Given the description of an element on the screen output the (x, y) to click on. 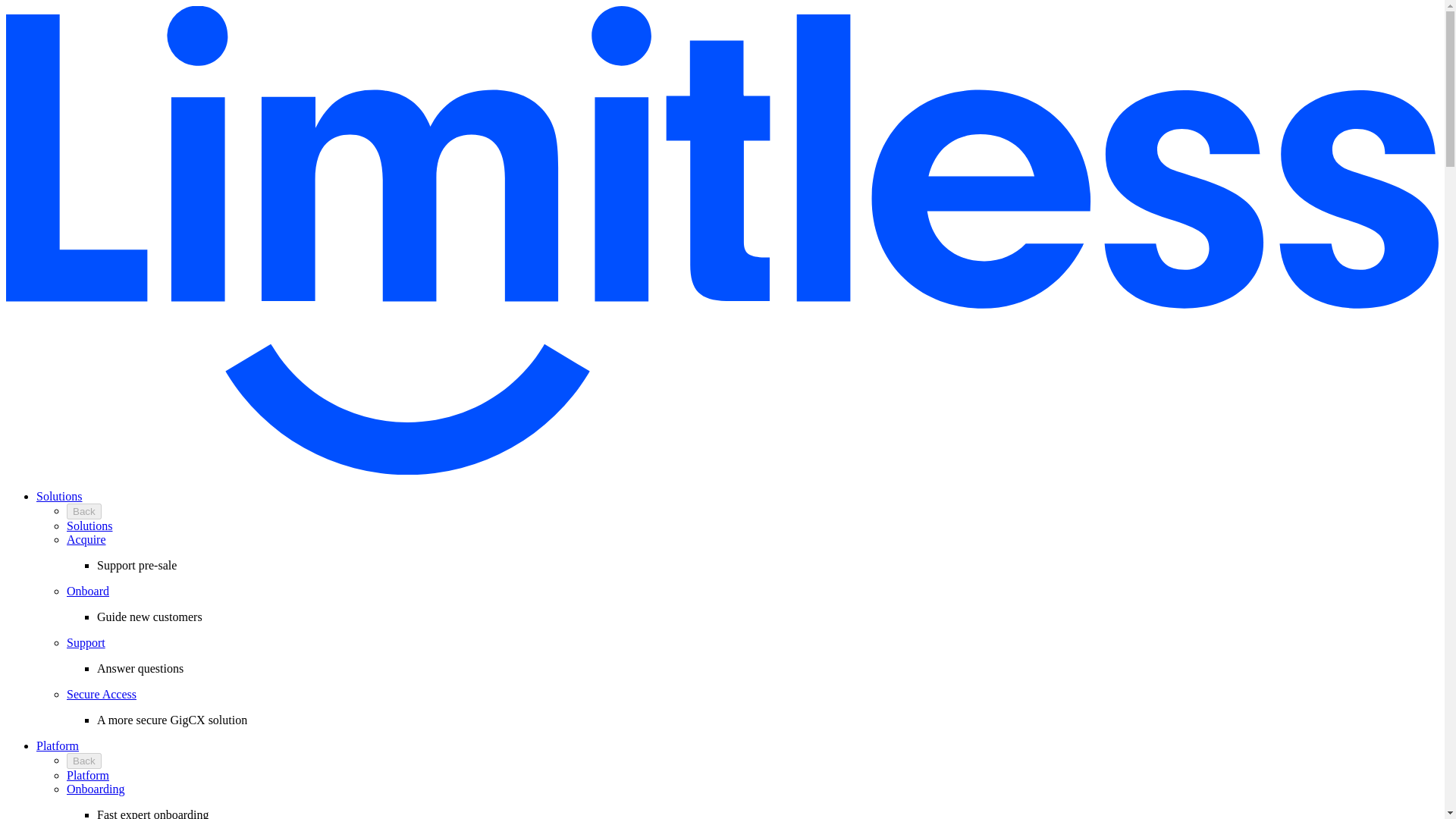
Support (85, 642)
Onboard (87, 590)
Back (83, 760)
Solutions (58, 495)
Platform (87, 775)
Platform (87, 775)
Secure Access (101, 694)
Support (85, 642)
Onboarding (94, 788)
Onboarding (94, 788)
